Given the description of an element on the screen output the (x, y) to click on. 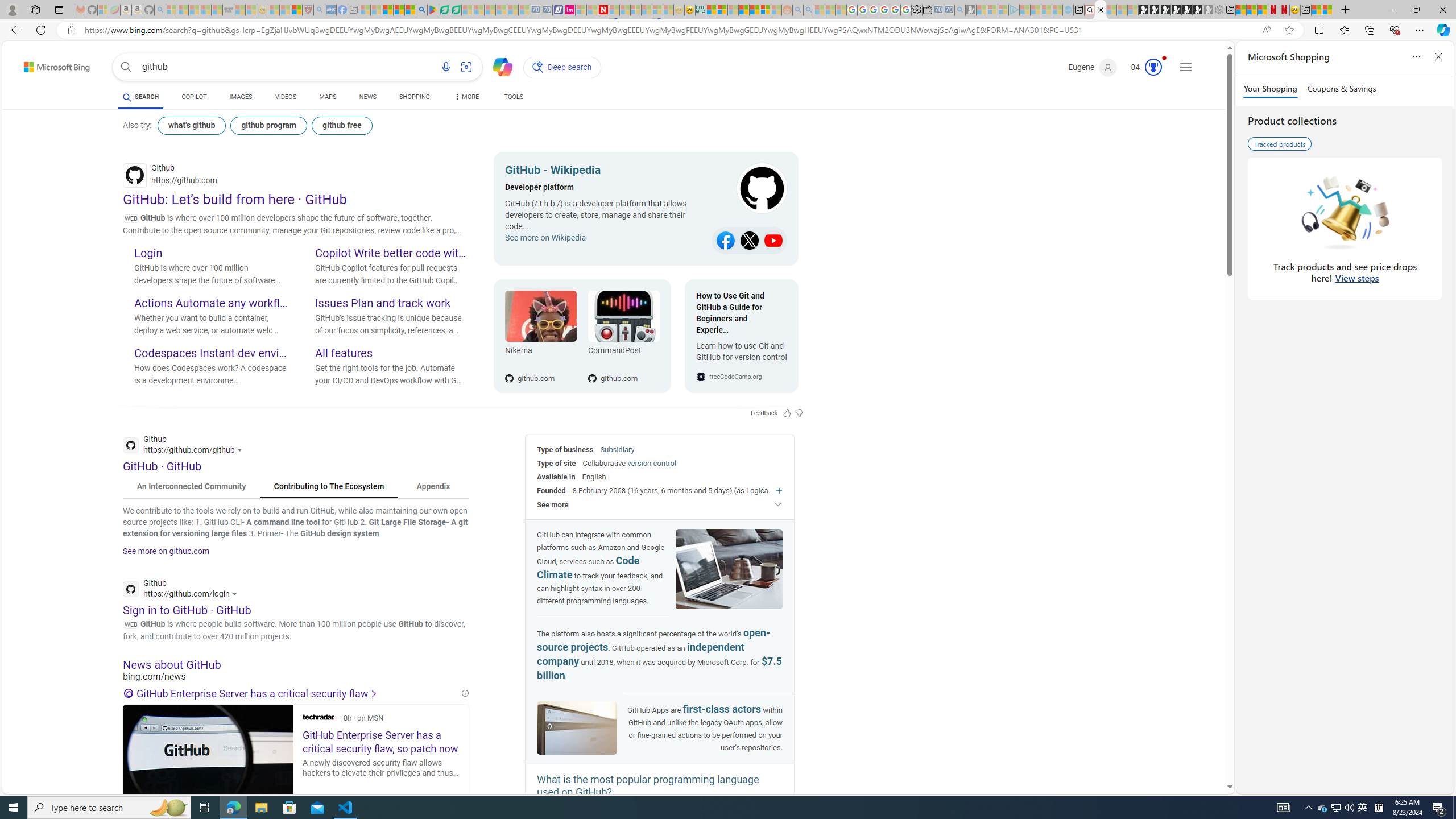
Nikema (540, 315)
Dropdown Menu (465, 96)
Actions Automate any workflow (210, 304)
CommandPost (623, 315)
Wallet (927, 9)
News about GitHub (295, 664)
Contributing to The Ecosystem (328, 486)
